Given the description of an element on the screen output the (x, y) to click on. 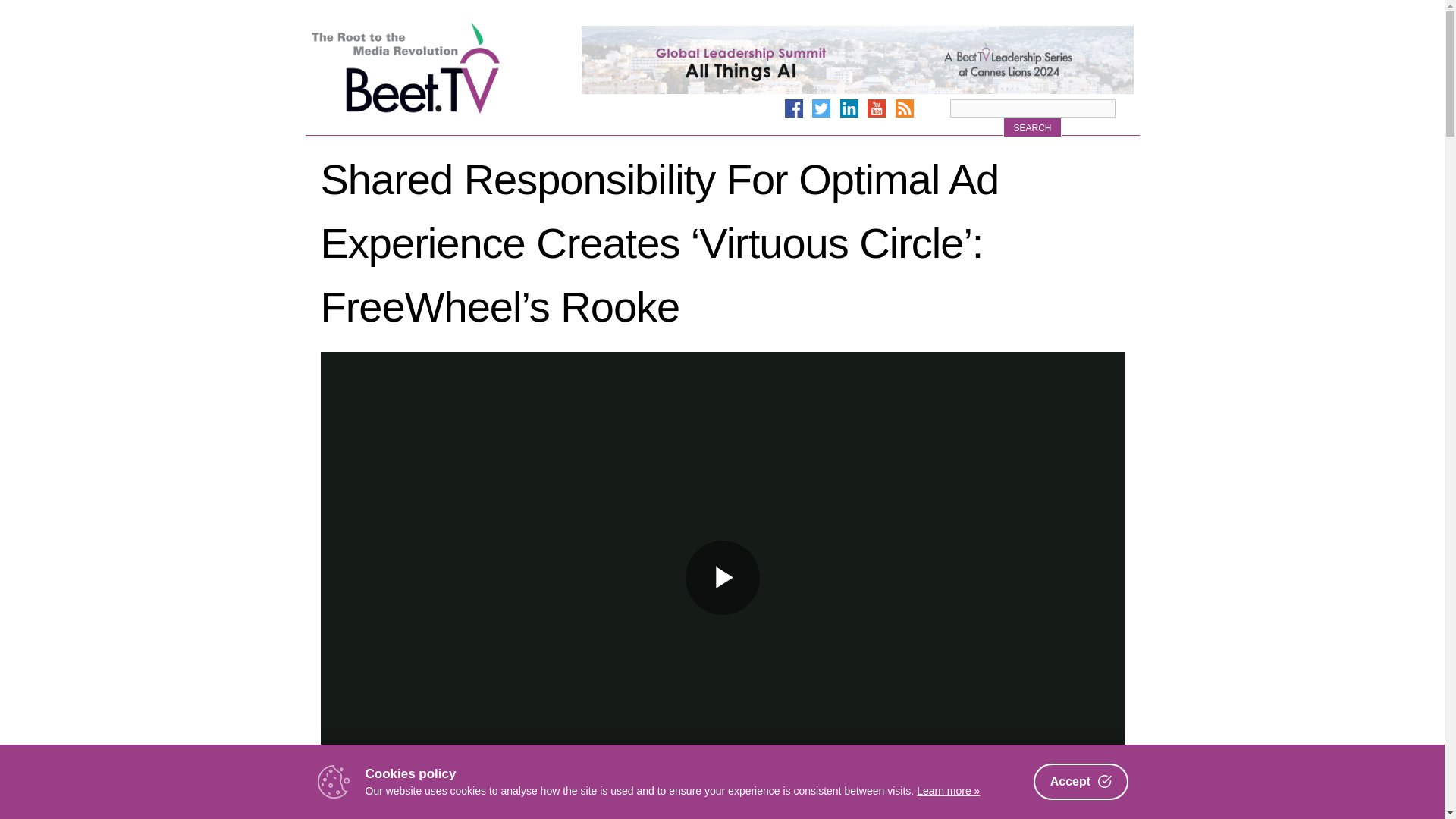
Search for: (1032, 108)
Beet.TV (443, 67)
Play Video (722, 577)
Search (1032, 127)
Search (1032, 127)
Play Video (722, 577)
Search (1032, 127)
